Given the description of an element on the screen output the (x, y) to click on. 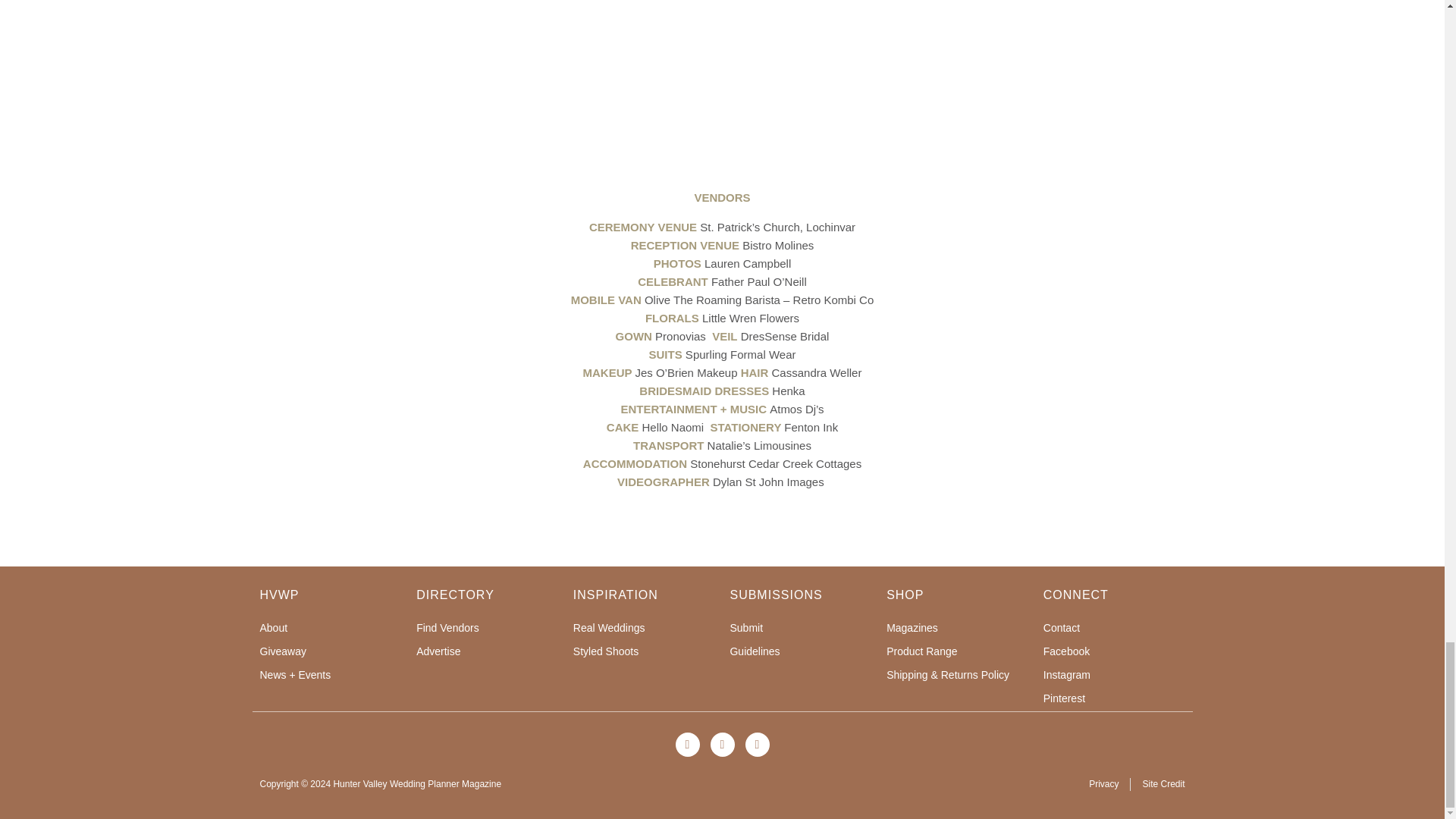
Guidelines (799, 651)
Facebook (1114, 651)
Magazines (956, 627)
Find Vendors (486, 627)
Real Weddings (643, 627)
Little Wren Flowers (750, 318)
Stonehurst Cedar Creek Cottages (775, 463)
Advertise (486, 651)
About (330, 627)
Styled Shoots (643, 651)
